Given the description of an element on the screen output the (x, y) to click on. 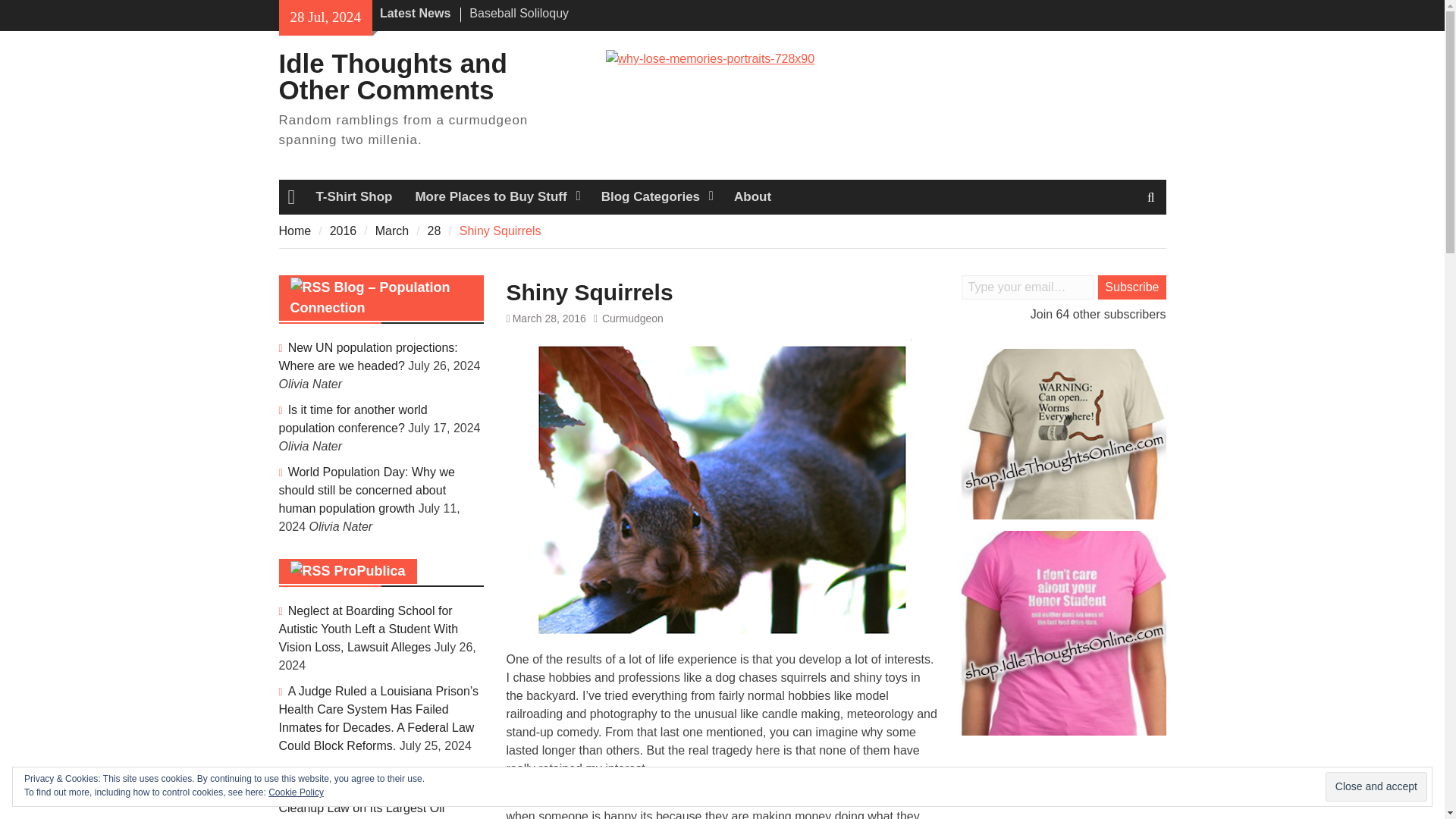
Close and accept (1375, 786)
Blog Categories (655, 196)
March (392, 230)
Baseball Soliloquy (518, 12)
Disclaimer and more. (752, 196)
Idle Thoughts and Other Comments (392, 76)
Please fill in this field. (1027, 286)
T-Shirt Shop (353, 196)
Curmudgeon (632, 318)
2016 (343, 230)
More Places to Buy Stuff (496, 196)
About (752, 196)
Home (295, 230)
28 (434, 230)
March 28, 2016 (549, 318)
